Given the description of an element on the screen output the (x, y) to click on. 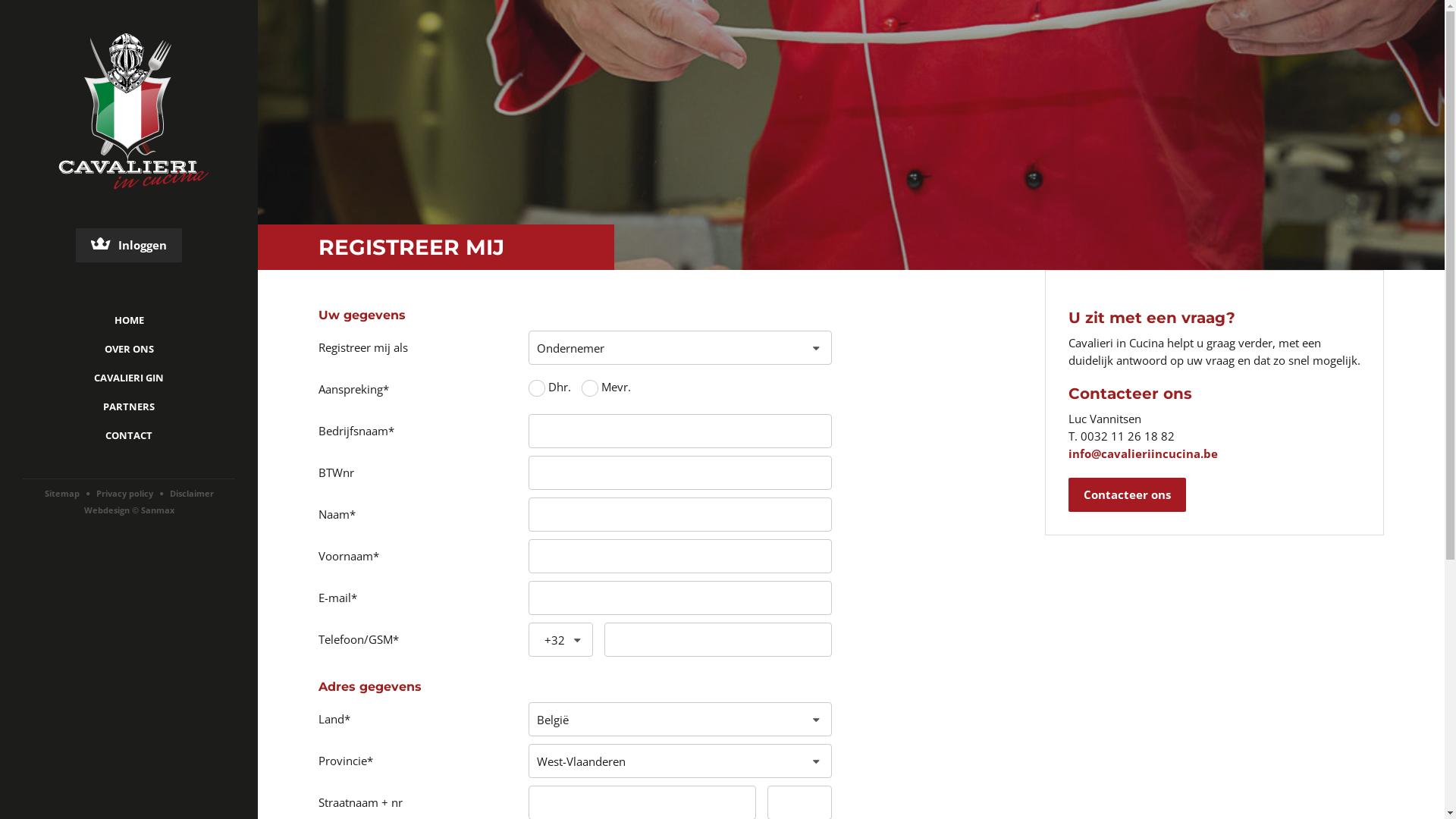
info@cavalieriincucina.be Element type: text (1142, 453)
CONTACT Element type: text (128, 435)
HOME Element type: text (128, 320)
OVER ONS Element type: text (128, 349)
Privacy policy Element type: text (123, 492)
Contacteer ons Element type: text (1127, 494)
Inloggen Element type: text (128, 245)
Disclaimer Element type: text (191, 492)
CAVALIERI GIN Element type: text (128, 377)
Sitemap Element type: text (60, 492)
PARTNERS Element type: text (128, 406)
